Given the description of an element on the screen output the (x, y) to click on. 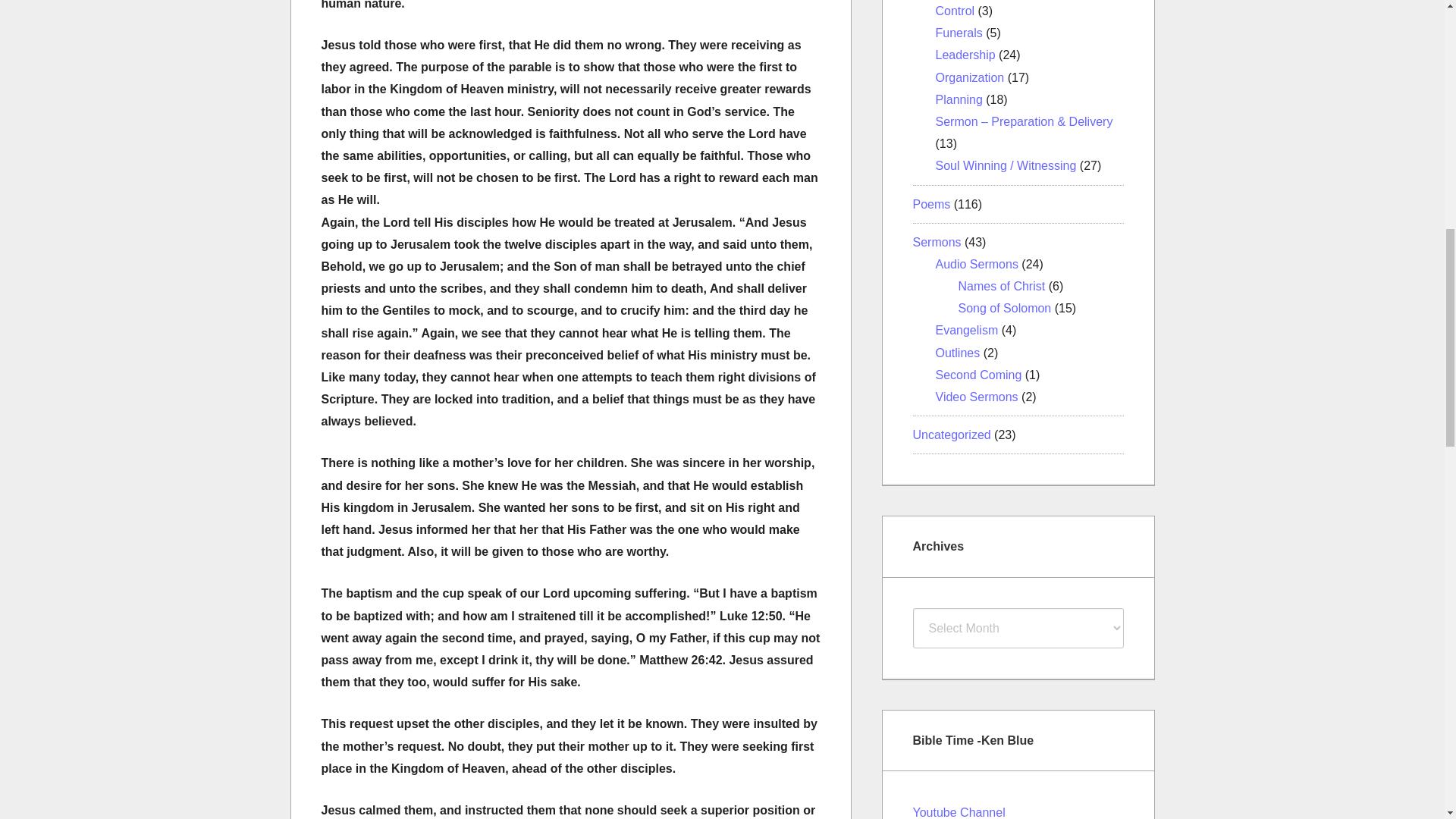
Evangelism (967, 329)
Outlines (957, 352)
Audio Sermons (976, 264)
Names of Christ (1001, 286)
Poems (931, 203)
Second Coming (979, 374)
Organization (970, 77)
Control (955, 10)
Song of Solomon (1004, 308)
Sermons (936, 241)
Funerals (959, 32)
Leadership (965, 54)
Planning (959, 99)
Video Sermons (976, 396)
